Given the description of an element on the screen output the (x, y) to click on. 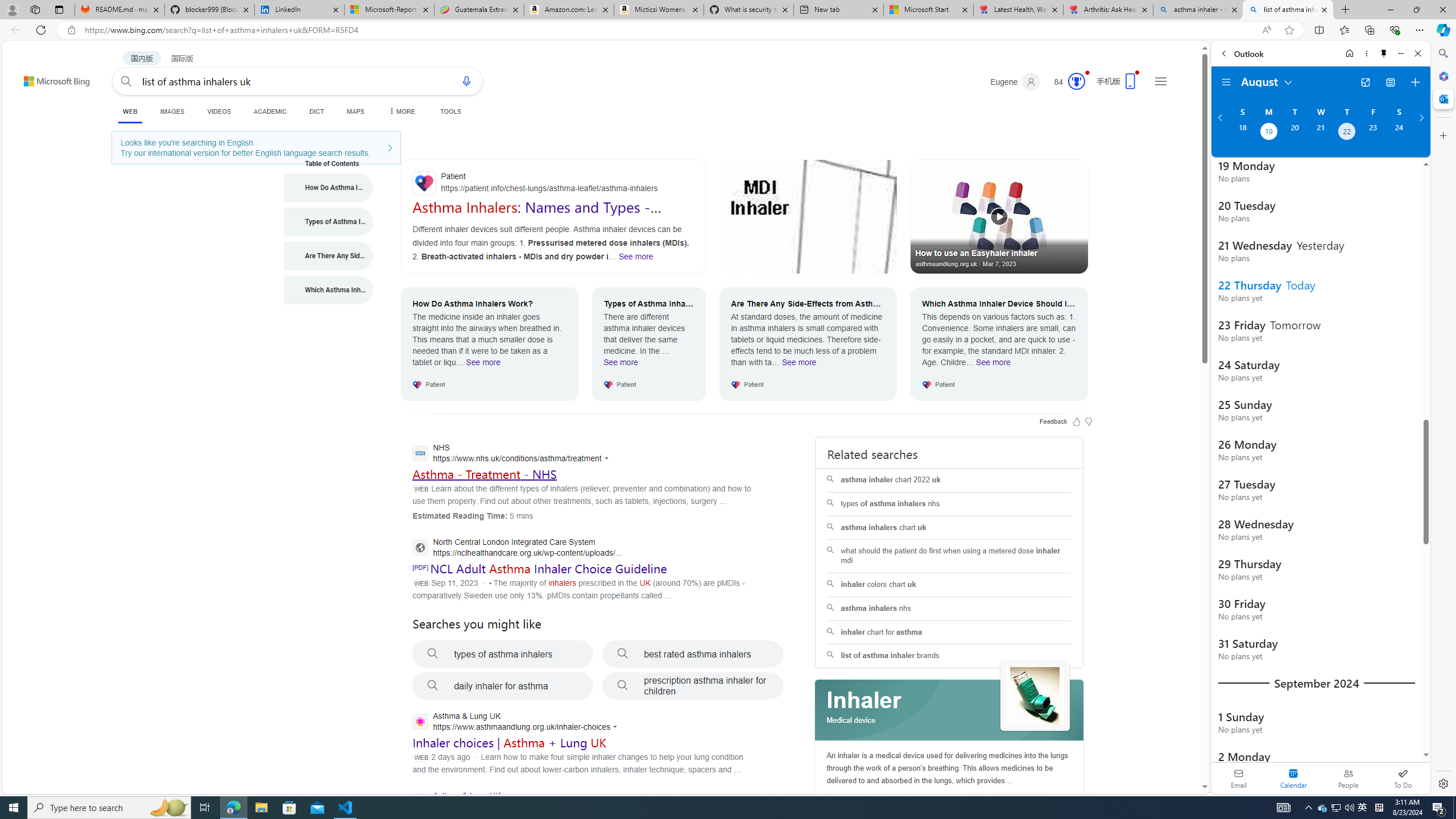
asthma inhaler chart 2022 uk (949, 480)
types of asthma inhalers (503, 653)
WEB (129, 112)
TOOLS (450, 111)
list of asthma inhaler brands (949, 656)
best rated asthma inhalers (692, 653)
